Given the description of an element on the screen output the (x, y) to click on. 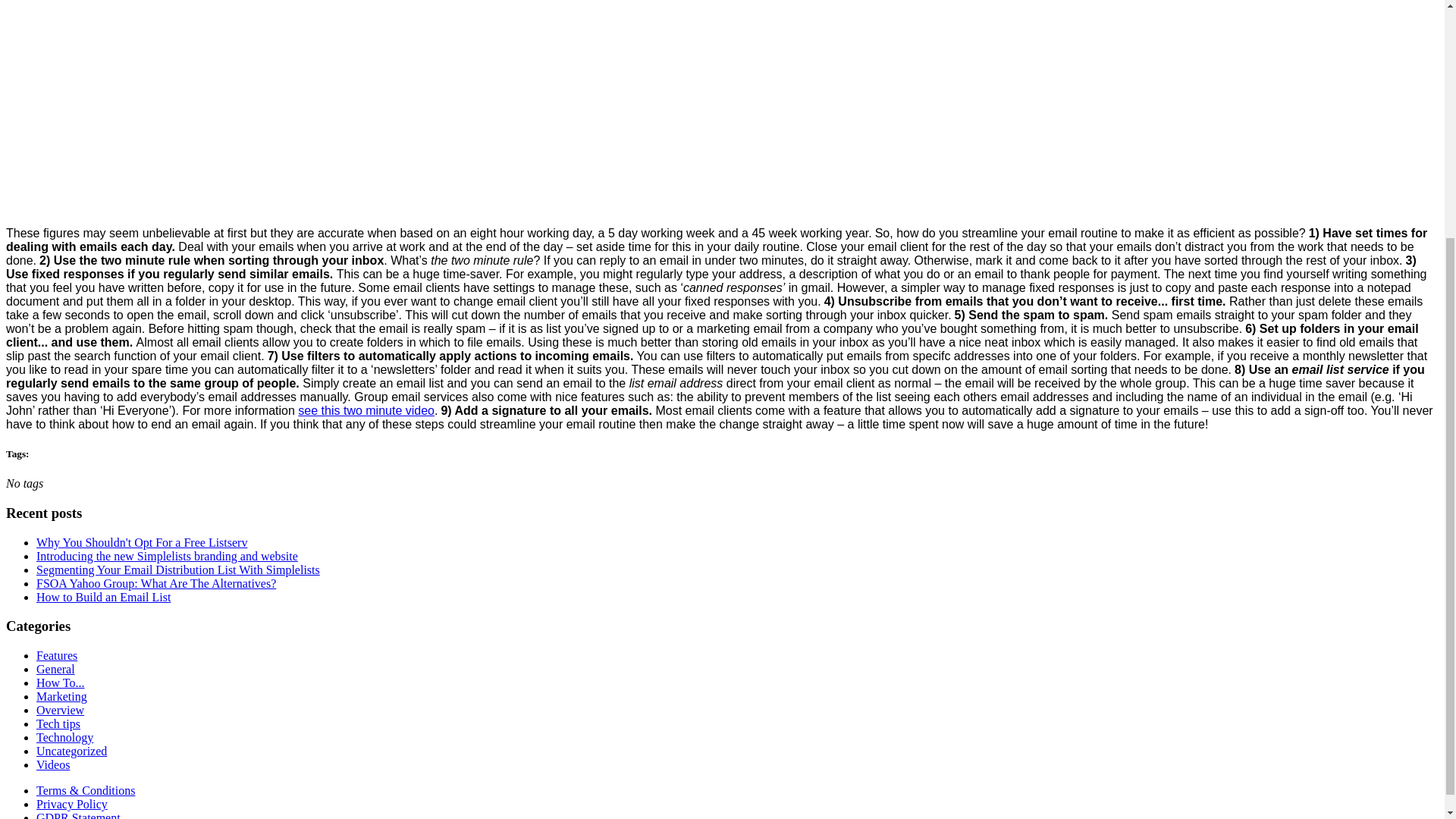
Technology (64, 737)
Uncategorized (71, 750)
How to Build an Email List (103, 596)
Why You Shouldn't Opt For a Free Listserv (141, 542)
Videos (52, 764)
Introducing the new Simplelists branding and website (167, 555)
Privacy Policy (71, 803)
see this two minute video (365, 410)
Segmenting Your Email Distribution List With Simplelists (178, 569)
How To... (60, 682)
